Given the description of an element on the screen output the (x, y) to click on. 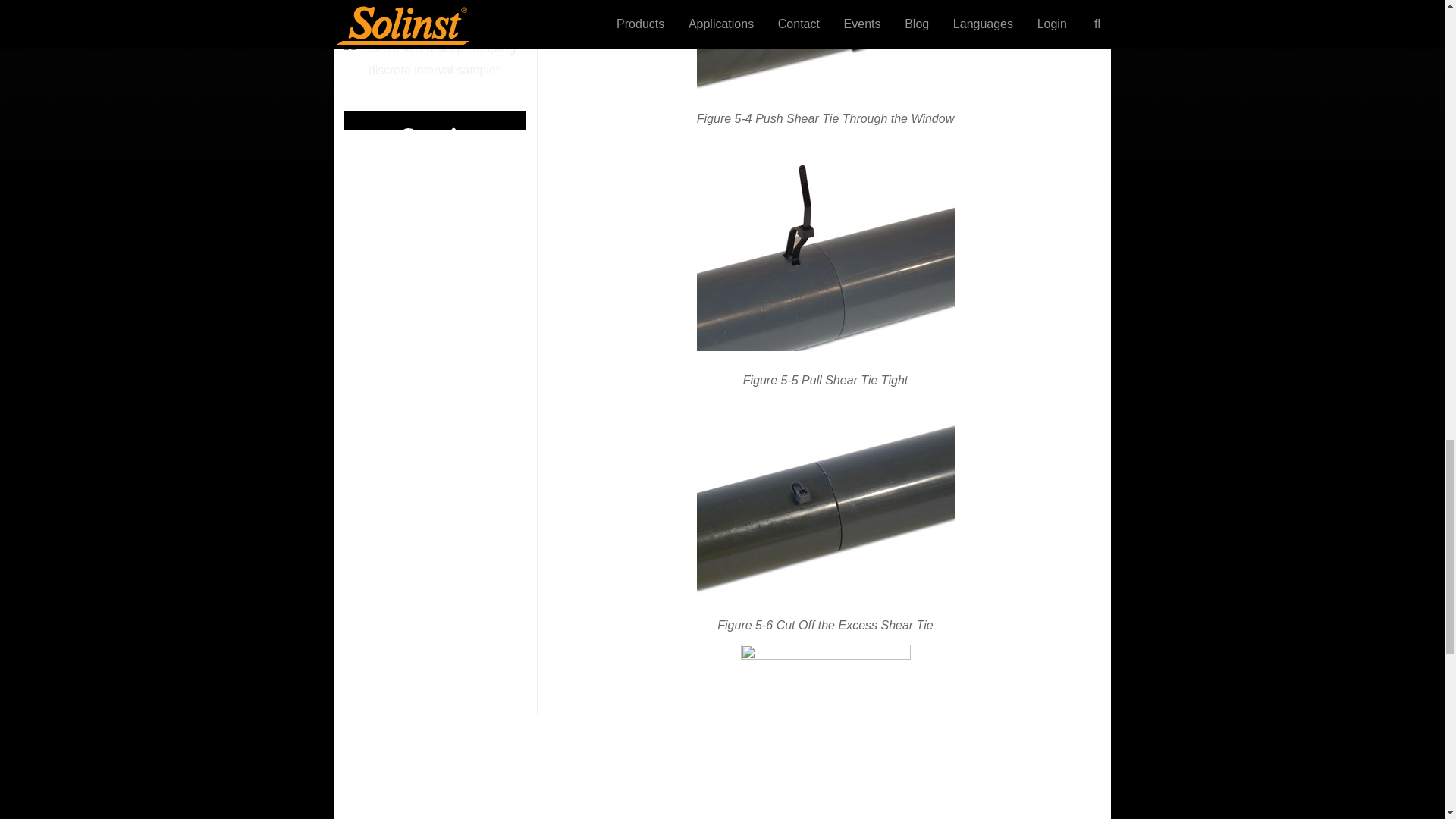
Figure 5-6 Cut Off the Excess Shear Tie (824, 508)
Solinst 425-D Deep Sampling Discrete Interval Sampler (433, 59)
Site BTEX (433, 11)
Figure 5-5 Pull Shear Tie Tight (824, 255)
Figure 5-4 Push Shear Tie Through the Window (824, 45)
